Given the description of an element on the screen output the (x, y) to click on. 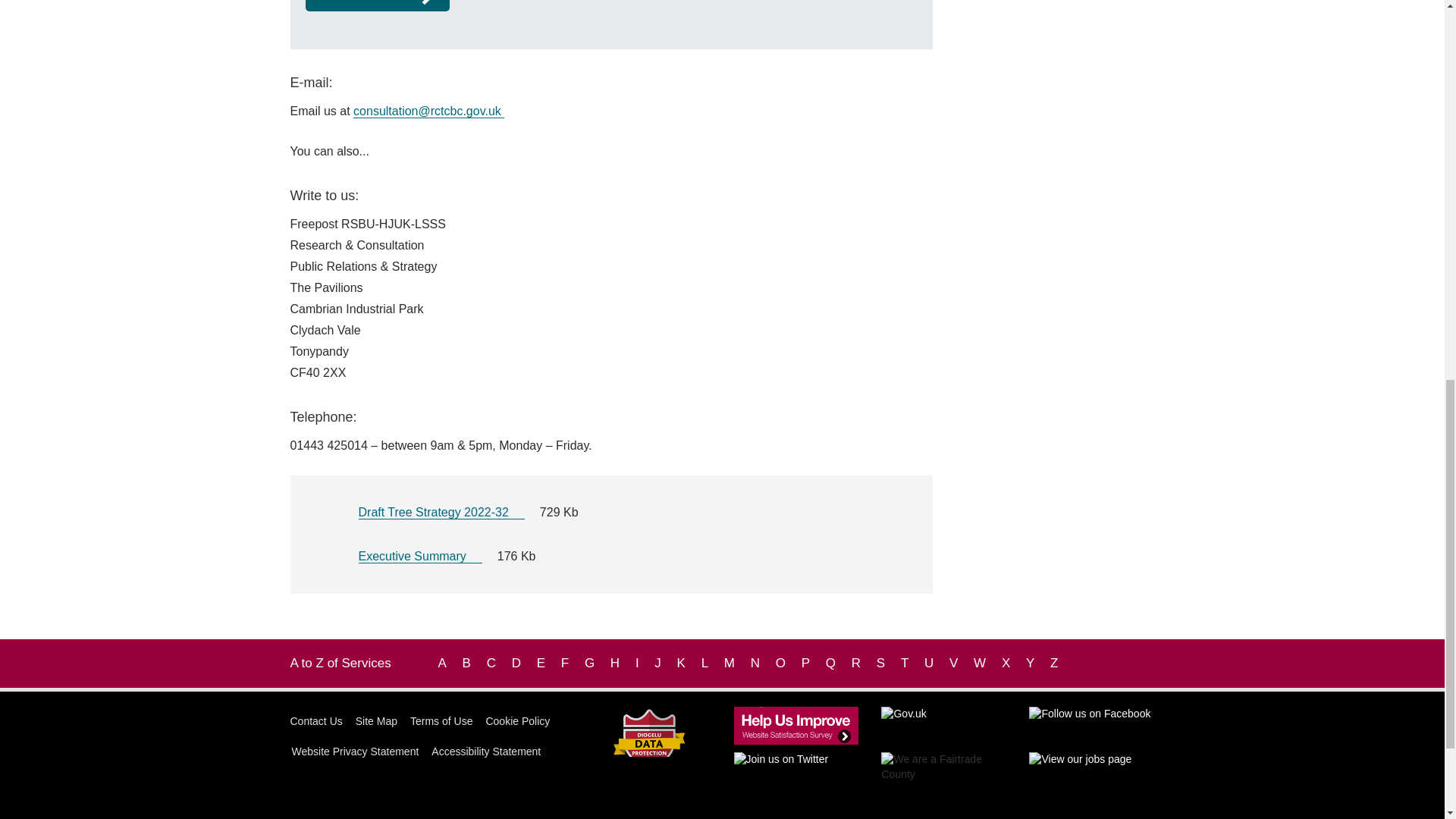
Go to the Draft Tree Strategy 2022-32 page (441, 512)
Data Protection (647, 744)
Draft Tree Strategy 2022-32 (441, 512)
Website Survey (796, 725)
www.gov.uk (943, 725)
Rhondda Cynon Taf on Twitter (796, 771)
Rhondda Cynon Taf on Facebook (1091, 725)
Go to the Executive Summary page (419, 556)
Rhondda Cynon Taf is a Living Wage Employer (1091, 785)
VIEW SURVEY (376, 5)
